Given the description of an element on the screen output the (x, y) to click on. 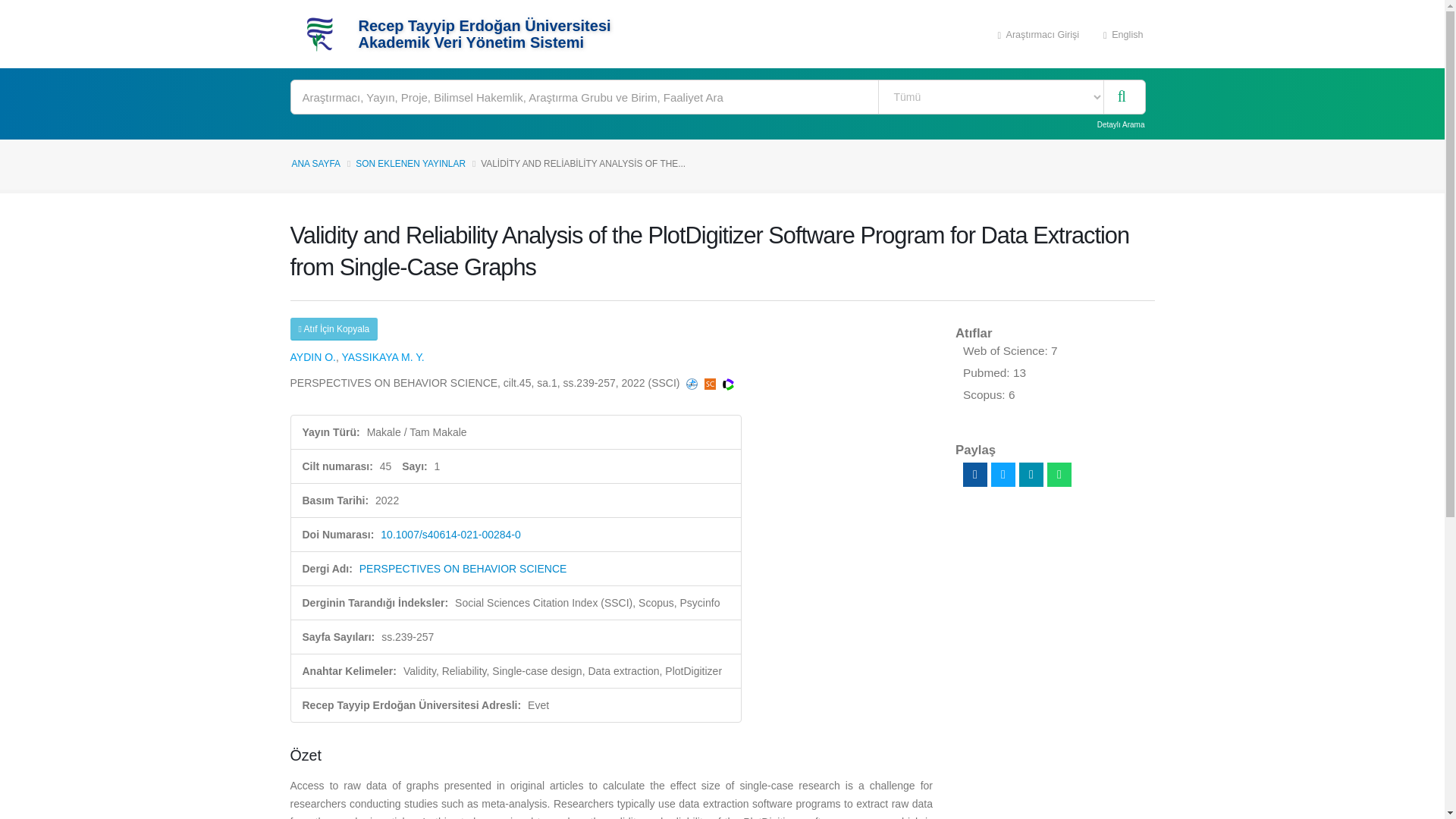
ANA SAYFA (315, 163)
YASSIKAYA M. Y. (381, 357)
PERSPECTIVES ON BEHAVIOR SCIENCE (463, 568)
SON EKLENEN YAYINLAR (410, 163)
AYDIN O. (311, 357)
English (1123, 33)
